Given the description of an element on the screen output the (x, y) to click on. 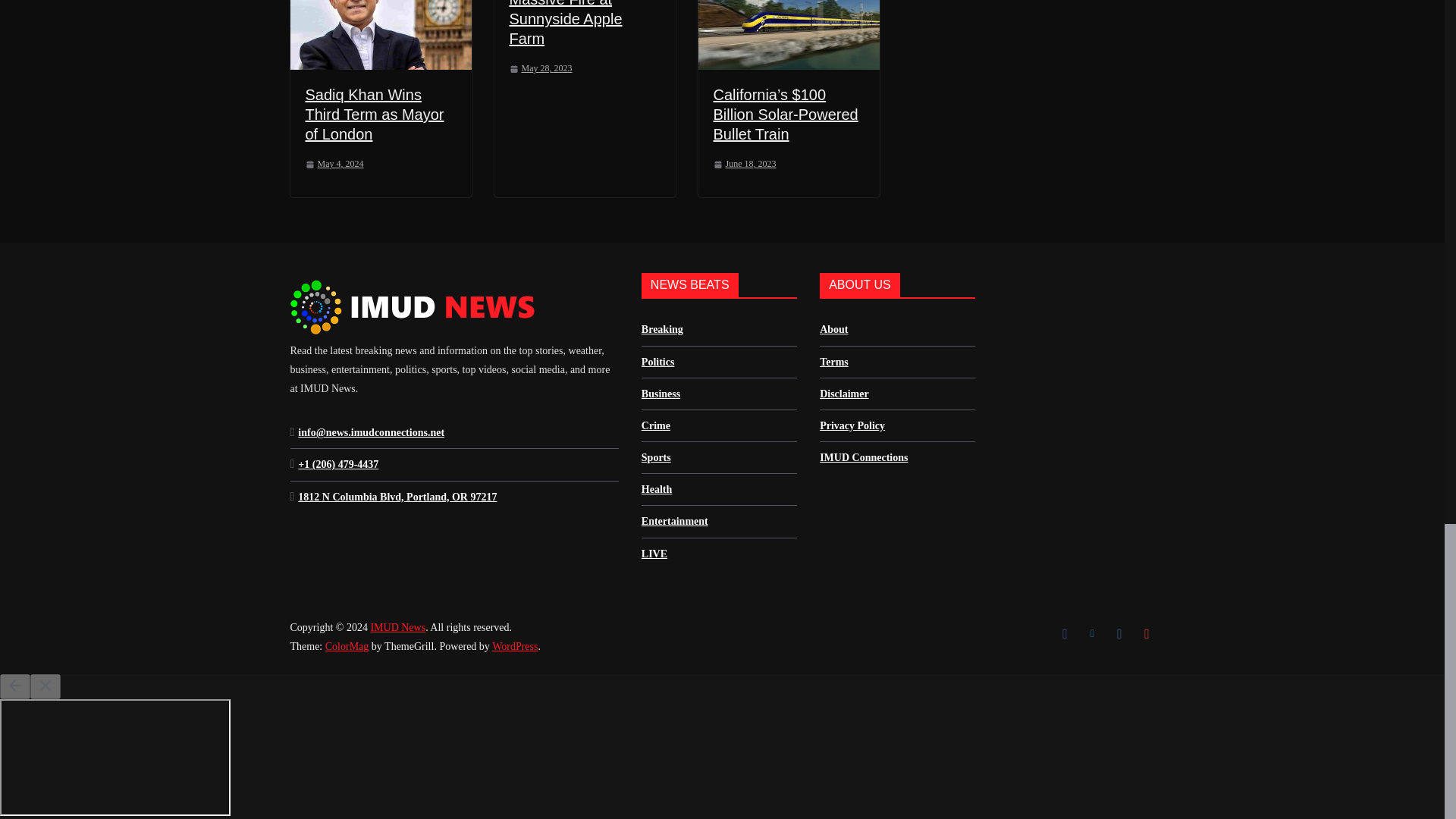
Sadiq Khan Wins Third Term as Mayor of London (379, 34)
Massive Fire at Sunnyside Apple Farm (566, 23)
May 4, 2024 (333, 164)
May 28, 2023 (540, 68)
2:35 pm (333, 164)
Sadiq Khan Wins Third Term as Mayor of London (374, 114)
Sadiq Khan Wins Third Term as Mayor of London (374, 114)
